Given the description of an element on the screen output the (x, y) to click on. 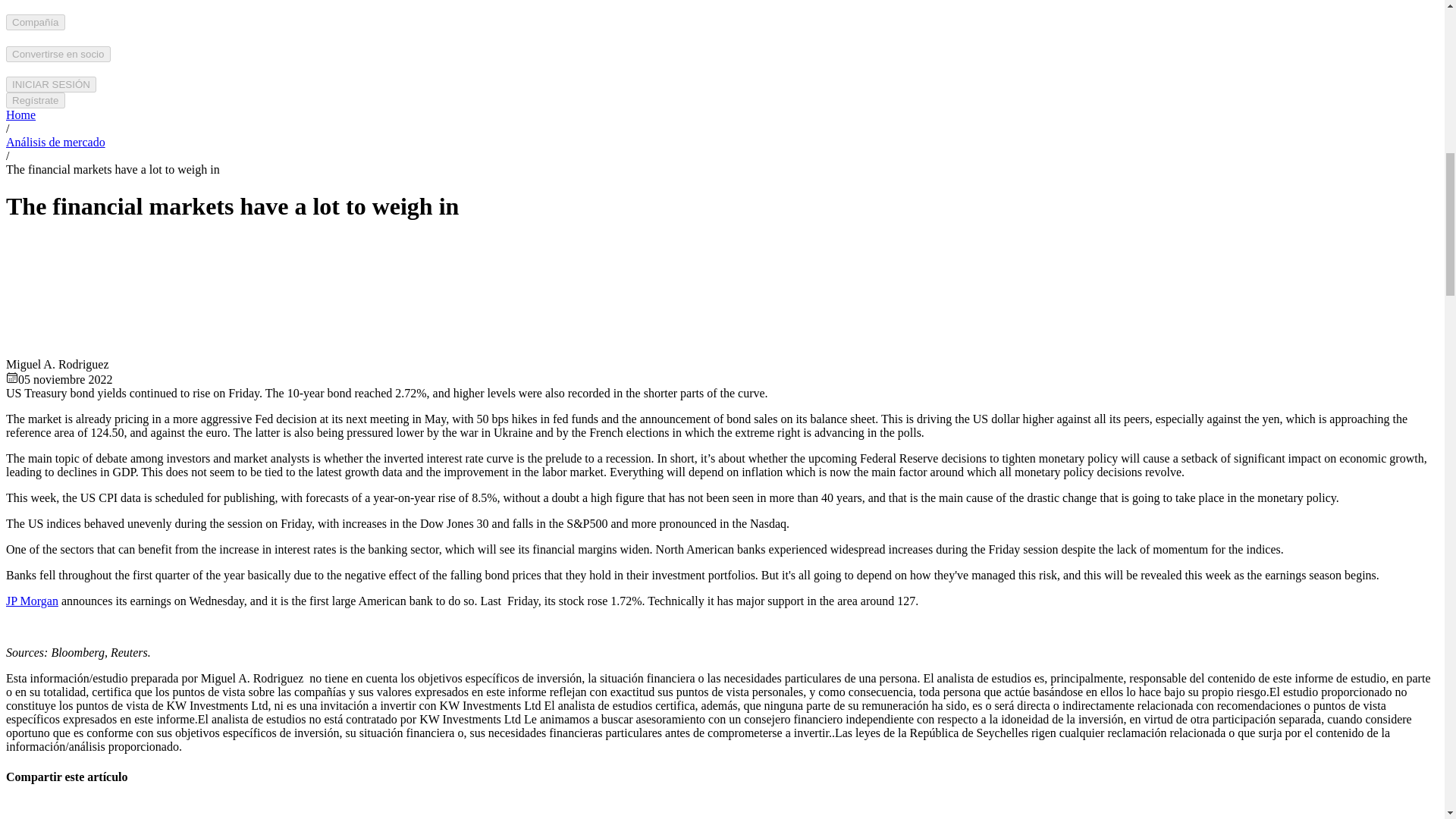
Miguel A. Rodriguez (50, 295)
